Given the description of an element on the screen output the (x, y) to click on. 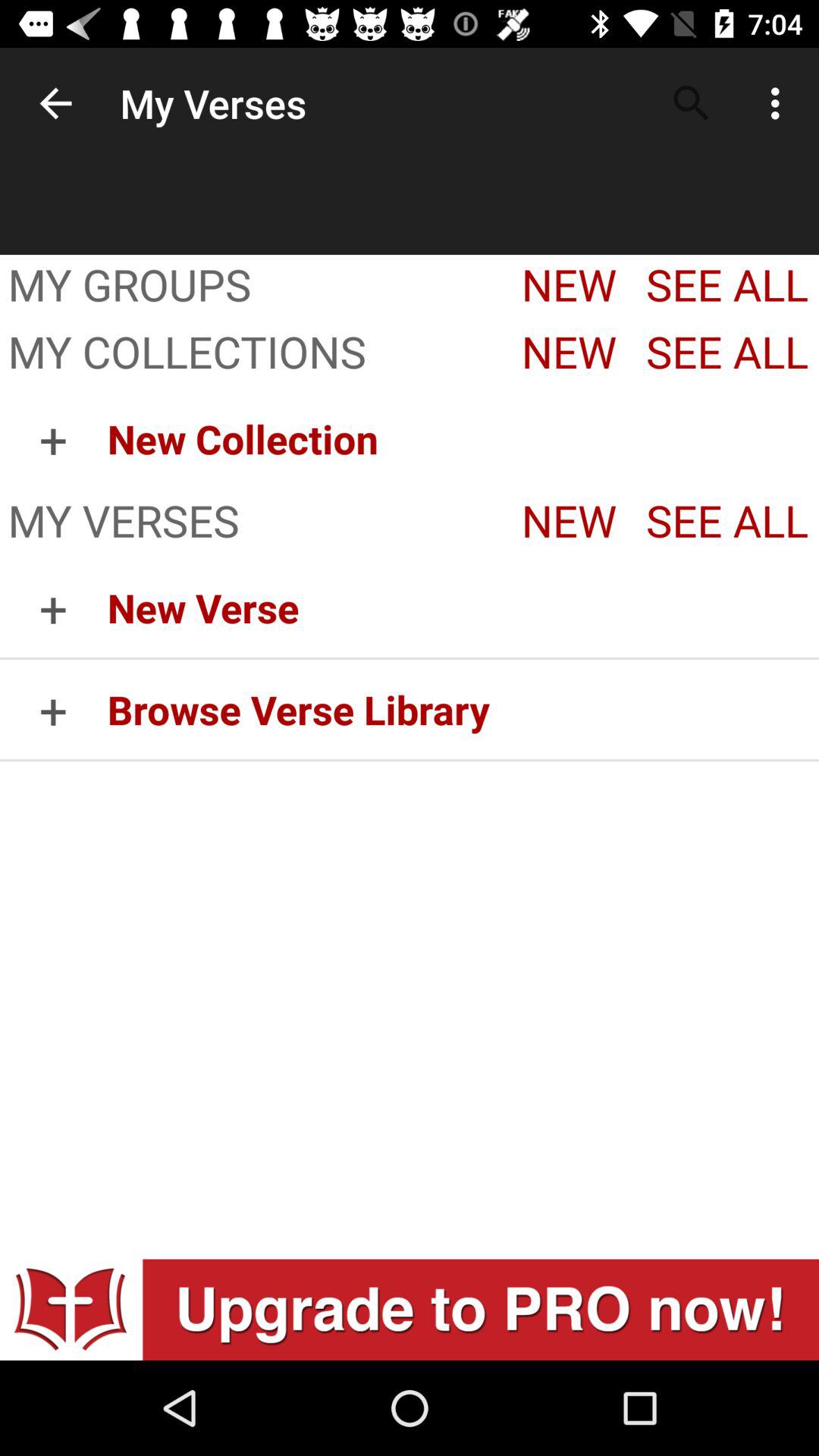
tap icon below the my verses app (53, 607)
